Given the description of an element on the screen output the (x, y) to click on. 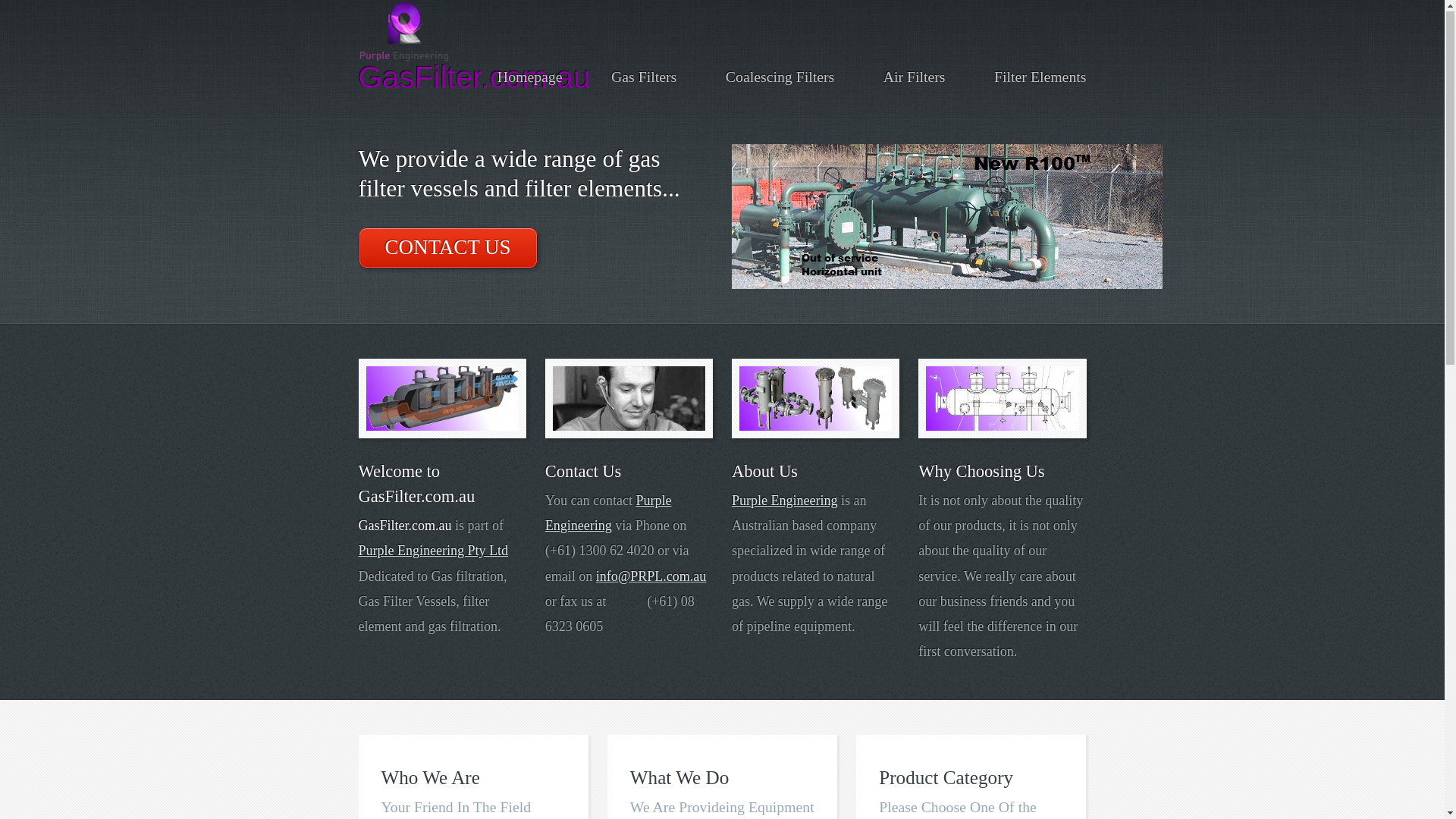
Homepage Element type: text (529, 77)
CONTACT US Element type: text (446, 248)
Purple Engineering Element type: text (784, 500)
Filter Elements Element type: text (1039, 77)
Purple Engineering Element type: text (608, 513)
GasFilter.com.au Element type: text (473, 77)
Gas Filters Element type: text (643, 77)
Purple Engineering Pty Ltd Element type: text (432, 550)
info@PRPL.com.au Element type: text (651, 576)
Coalescing Filters Element type: text (779, 77)
Air Filters Element type: text (914, 77)
